Given the description of an element on the screen output the (x, y) to click on. 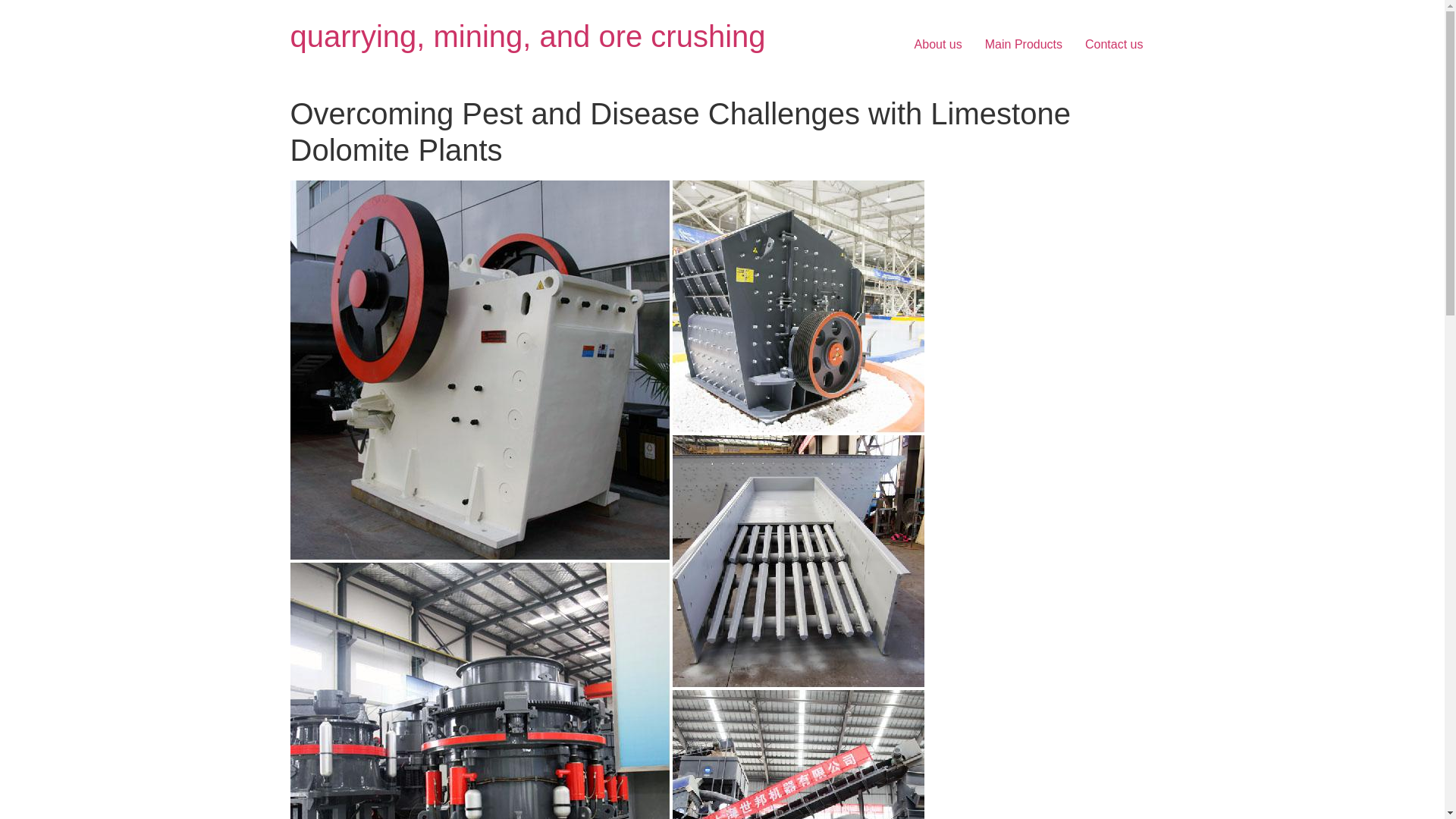
quarrying, mining, and ore crushing (527, 36)
About us (938, 44)
Main Products (1024, 44)
Contact us (1114, 44)
Home (527, 36)
